Given the description of an element on the screen output the (x, y) to click on. 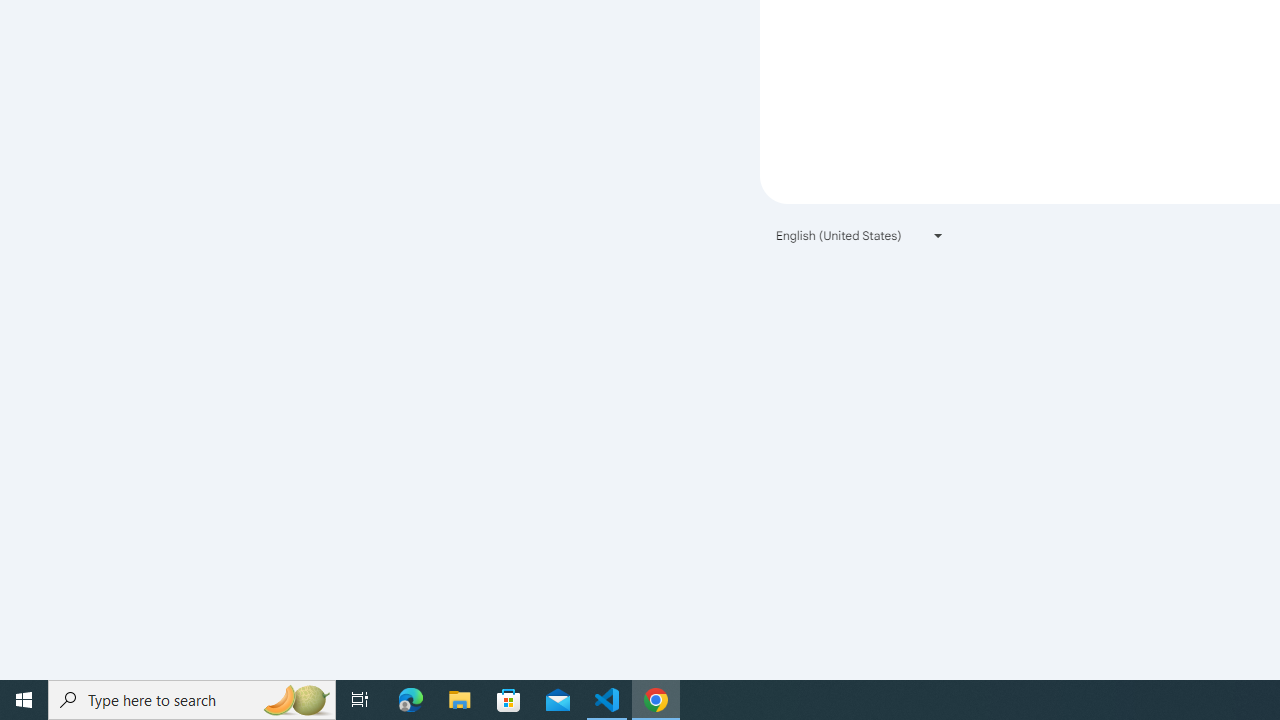
English (United States) (860, 234)
